Given the description of an element on the screen output the (x, y) to click on. 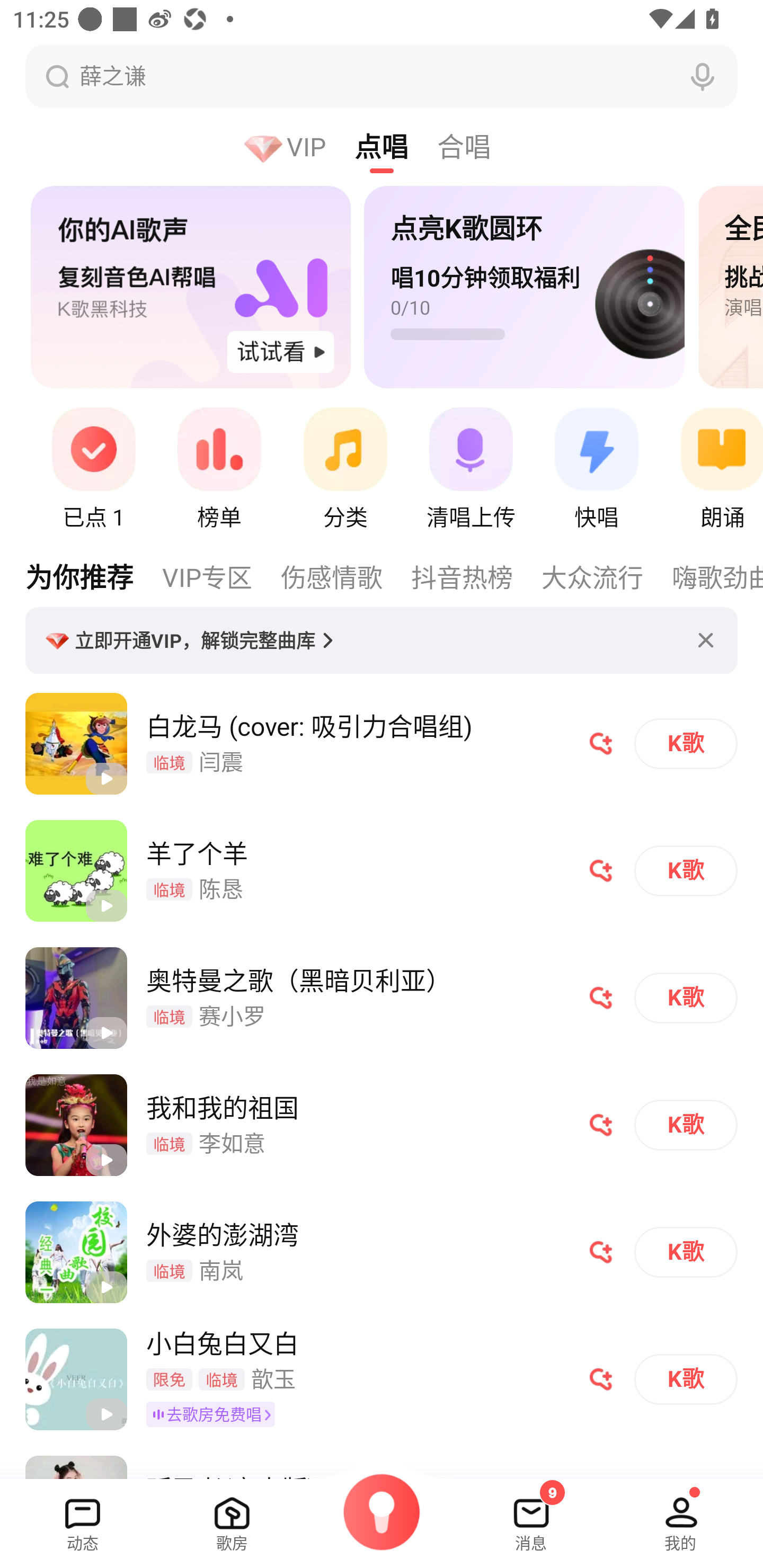
搜索框 搜索 薛之谦 搜索框 语音搜索 按钮 (381, 75)
语音搜索 按钮 (702, 76)
VIP (298, 146)
已选中，点唱 按钮 (395, 146)
合唱 按钮 (478, 146)
解锁AI歌声 (190, 287)
点亮K歌圆环 唱10分钟领取福利 0/10  (517, 287)
已点 1 (93, 470)
榜单 (219, 470)
分类 (345, 470)
清唱上传 (470, 470)
快唱 (596, 470)
朗诵 (711, 470)
已选中，为你推荐 按钮 (80, 576)
VIP专区 按钮 (220, 576)
伤感情歌 按钮 (345, 576)
抖音热榜 按钮 (476, 576)
大众流行 按钮 (606, 576)
立即开通VIP，解锁完整曲库 关闭 按钮 (381, 640)
关闭 按钮 (705, 640)
播放 按钮 白龙马 (cover: 吸引力合唱组) 临境 闫震 点击添加至未唱 按钮 K歌 按钮 (381, 743)
K歌 按钮 (685, 743)
点击添加至未唱 按钮 (600, 743)
播放 按钮 (106, 778)
播放 按钮 羊了个羊 临境 陈恳 点击添加至未唱 按钮 K歌 按钮 (381, 870)
K歌 按钮 (685, 870)
点击添加至未唱 按钮 (600, 870)
播放 按钮 (106, 905)
播放 按钮 奥特曼之歌（黑暗贝利亚） 临境 赛小罗 点击添加至未唱 按钮 K歌 按钮 (381, 997)
K歌 按钮 (685, 997)
点击添加至未唱 按钮 (600, 997)
播放 按钮 (106, 1032)
播放 按钮 我和我的祖国 临境 李如意 点击添加至未唱 按钮 K歌 按钮 (381, 1124)
K歌 按钮 (685, 1124)
点击添加至未唱 按钮 (600, 1124)
播放 按钮 (106, 1160)
播放 按钮 外婆的澎湖湾 临境 南岚 点击添加至未唱 按钮 K歌 按钮 (381, 1251)
K歌 按钮 (685, 1251)
点击添加至未唱 按钮 (600, 1251)
播放 按钮 (106, 1287)
播放 按钮 小白兔白又白 限免 临境 歆玉 去歌房免费唱 点击添加至未唱 按钮 K歌 按钮 (381, 1378)
K歌 按钮 (685, 1379)
点击添加至未唱 按钮 (600, 1379)
去歌房免费唱 (213, 1413)
播放 按钮 (106, 1414)
未选中动态 (82, 1516)
未选中歌房 (231, 1516)
已选中录歌 (381, 1523)
未选中消息 (530, 1516)
未选中我的 (680, 1516)
